Given the description of an element on the screen output the (x, y) to click on. 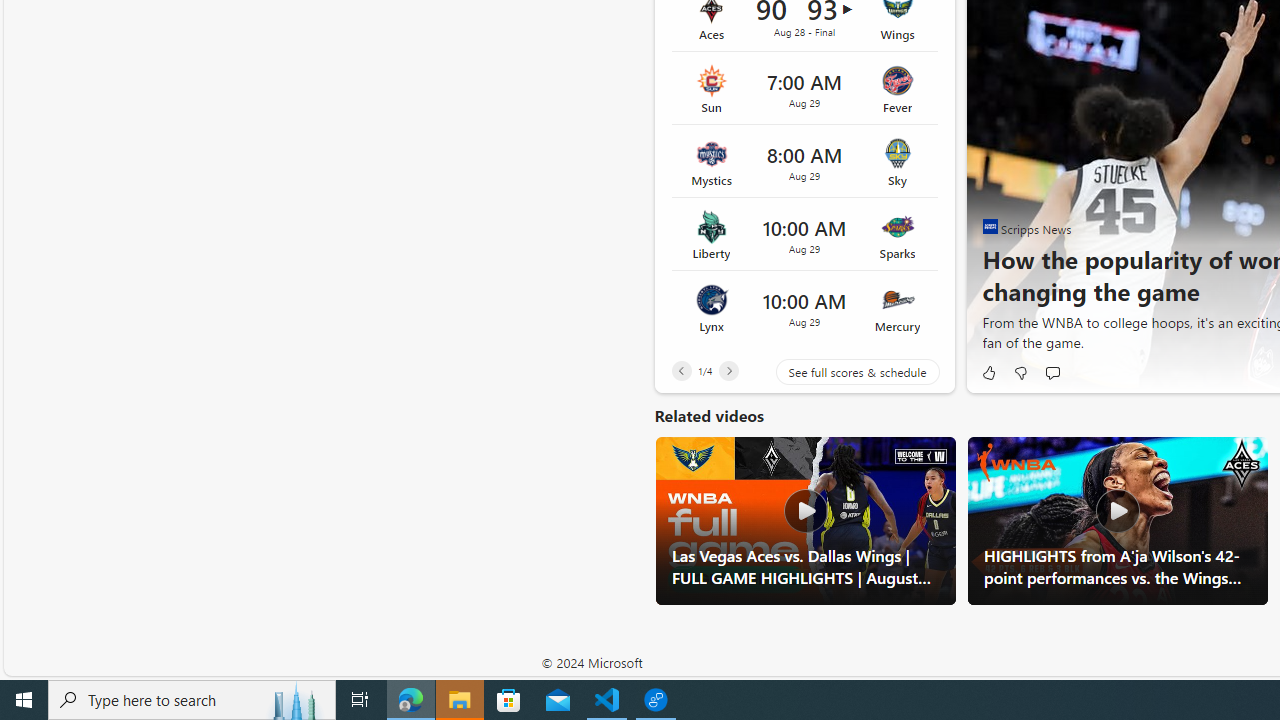
See full scores & schedule (842, 372)
Dislike (1019, 372)
previous (992, 161)
